Given the description of an element on the screen output the (x, y) to click on. 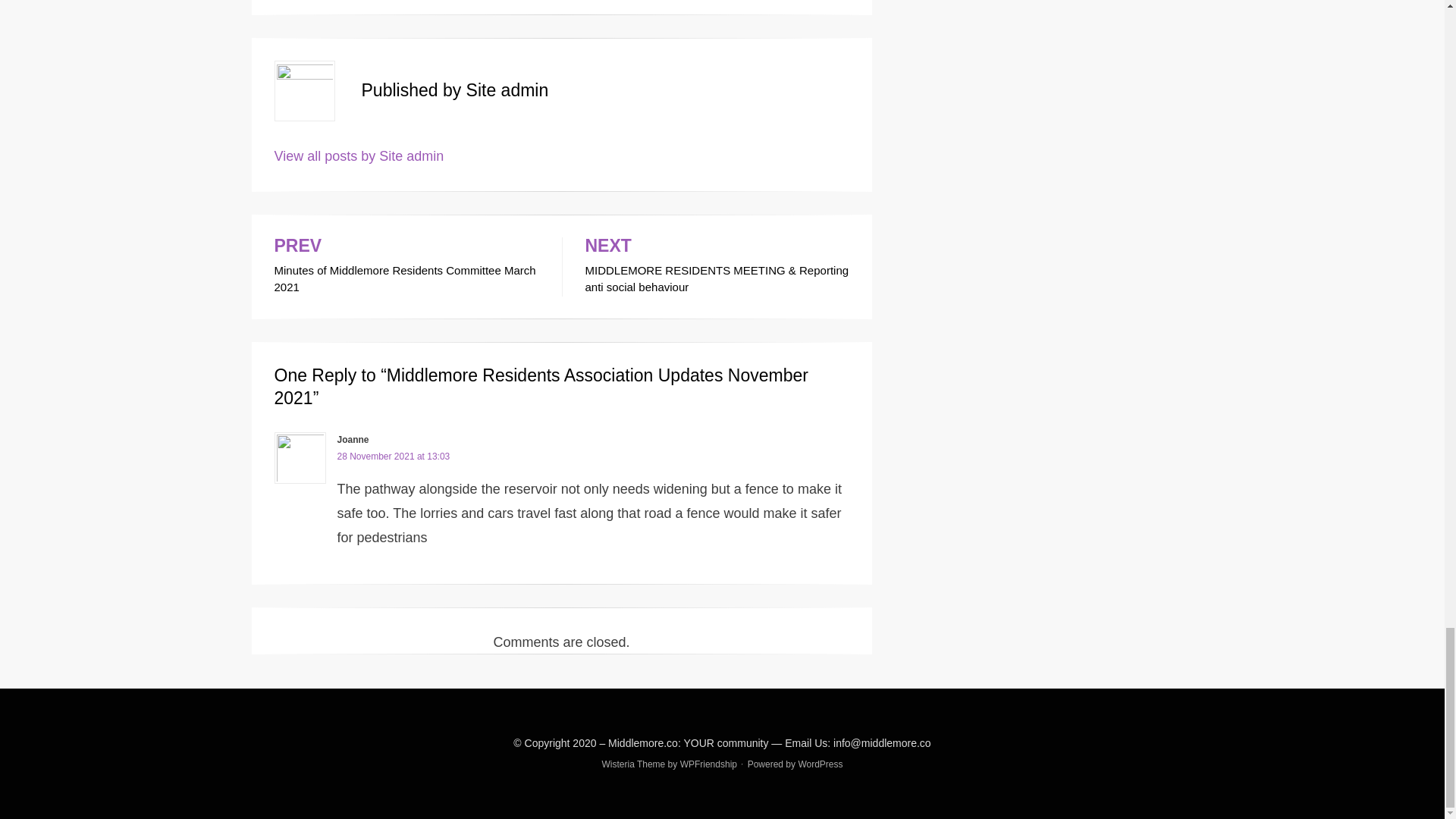
Middlemore.co: YOUR community (688, 743)
WPFriendship (406, 266)
WordPress (707, 764)
28 November 2021 at 13:03 (820, 764)
WordPress (392, 456)
WPFriendship (820, 764)
View all posts by Site admin (707, 764)
